Given the description of an element on the screen output the (x, y) to click on. 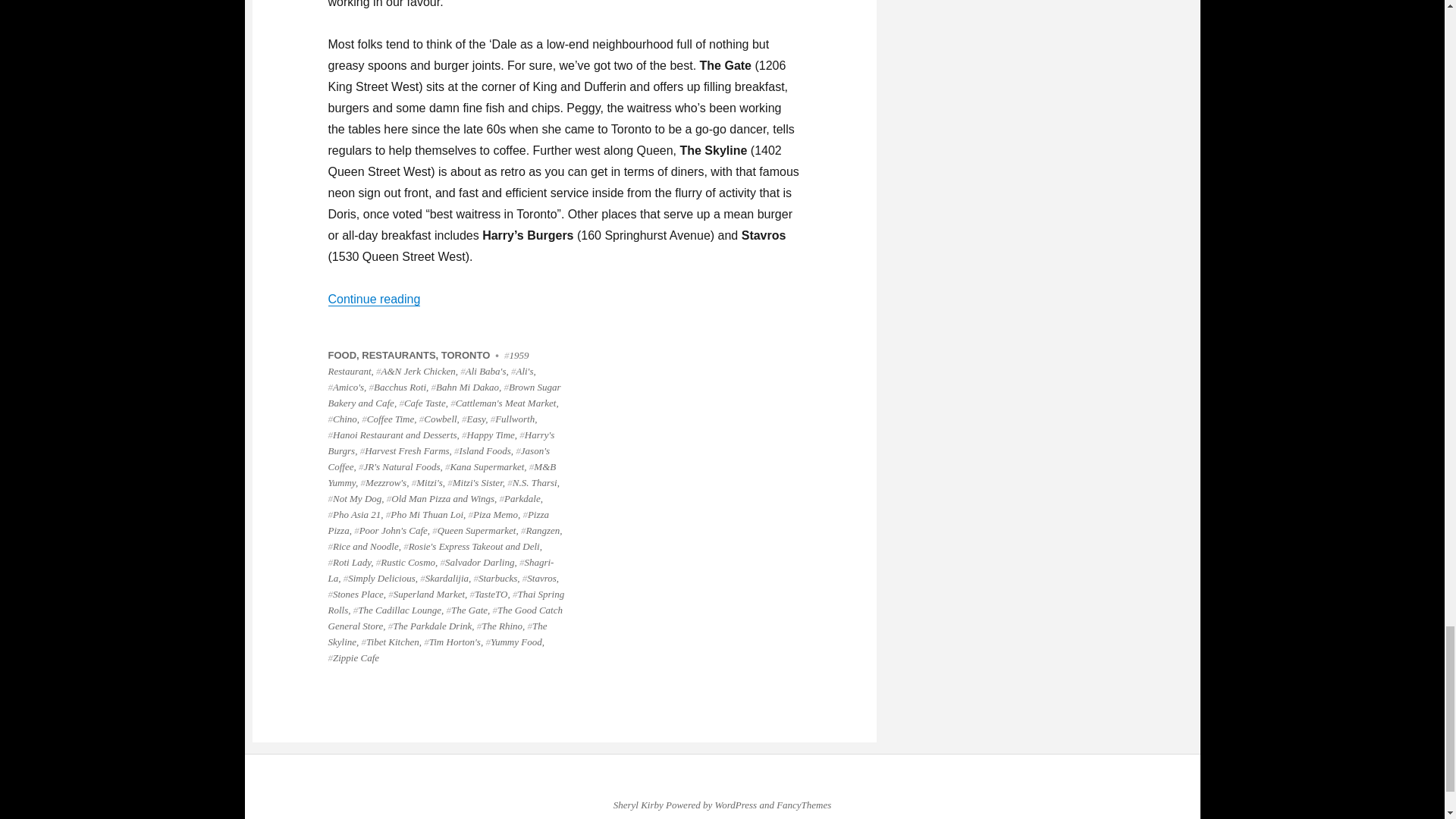
Amico's (345, 387)
1959 Restaurant (427, 362)
Ali's (522, 370)
Cattleman's Meat Market (502, 402)
Bahn Mi Dakao (464, 387)
FOOD (341, 355)
Bacchus Roti (397, 387)
Chino (341, 419)
RESTAURANTS (398, 355)
TORONTO (465, 355)
Cafe Taste (421, 402)
Coffee Time (387, 419)
Brown Sugar Bakery and Cafe (443, 394)
Ali Baba's (482, 370)
